Given the description of an element on the screen output the (x, y) to click on. 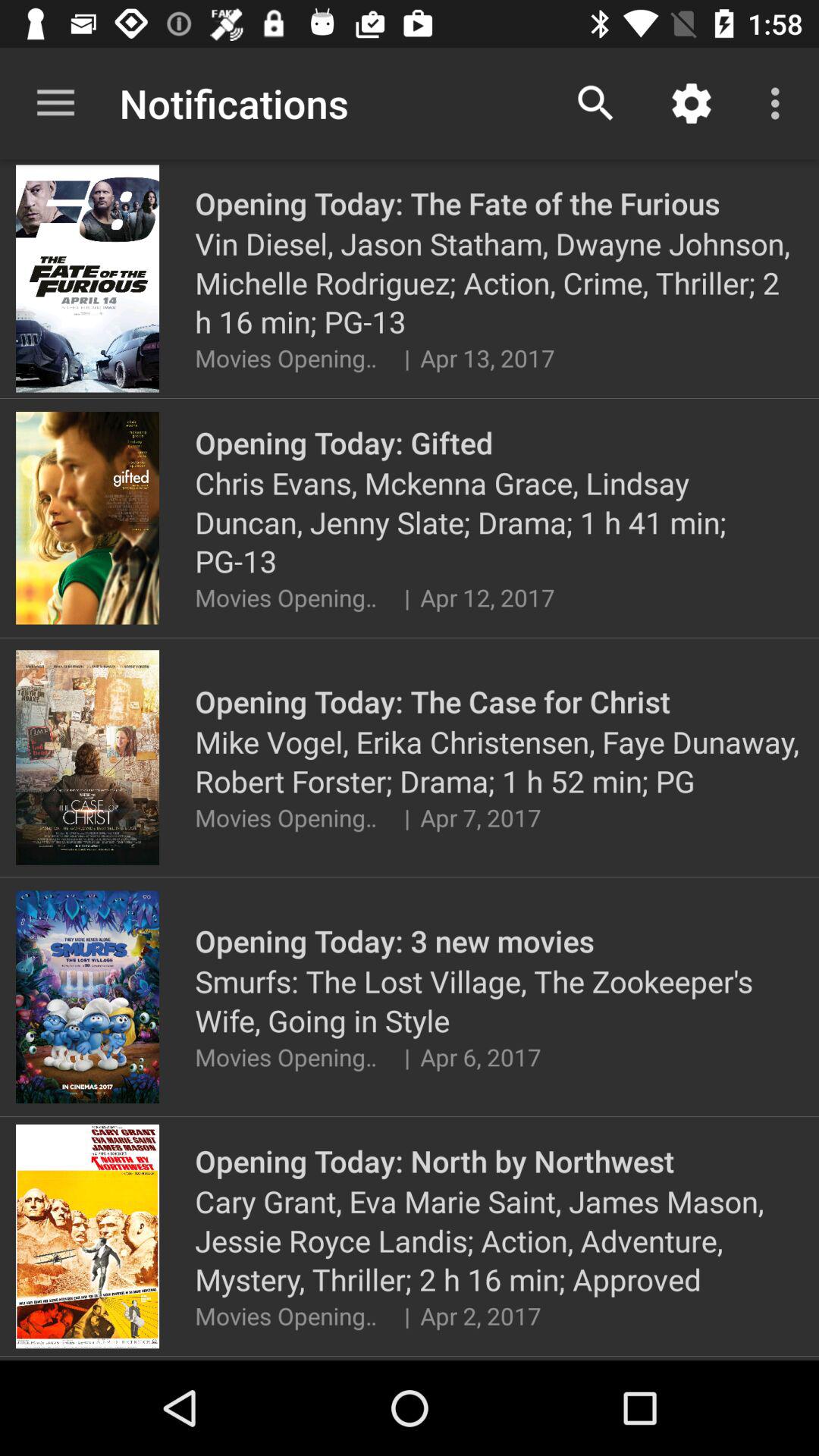
select the icon to the right of movies opening today item (407, 1315)
